Given the description of an element on the screen output the (x, y) to click on. 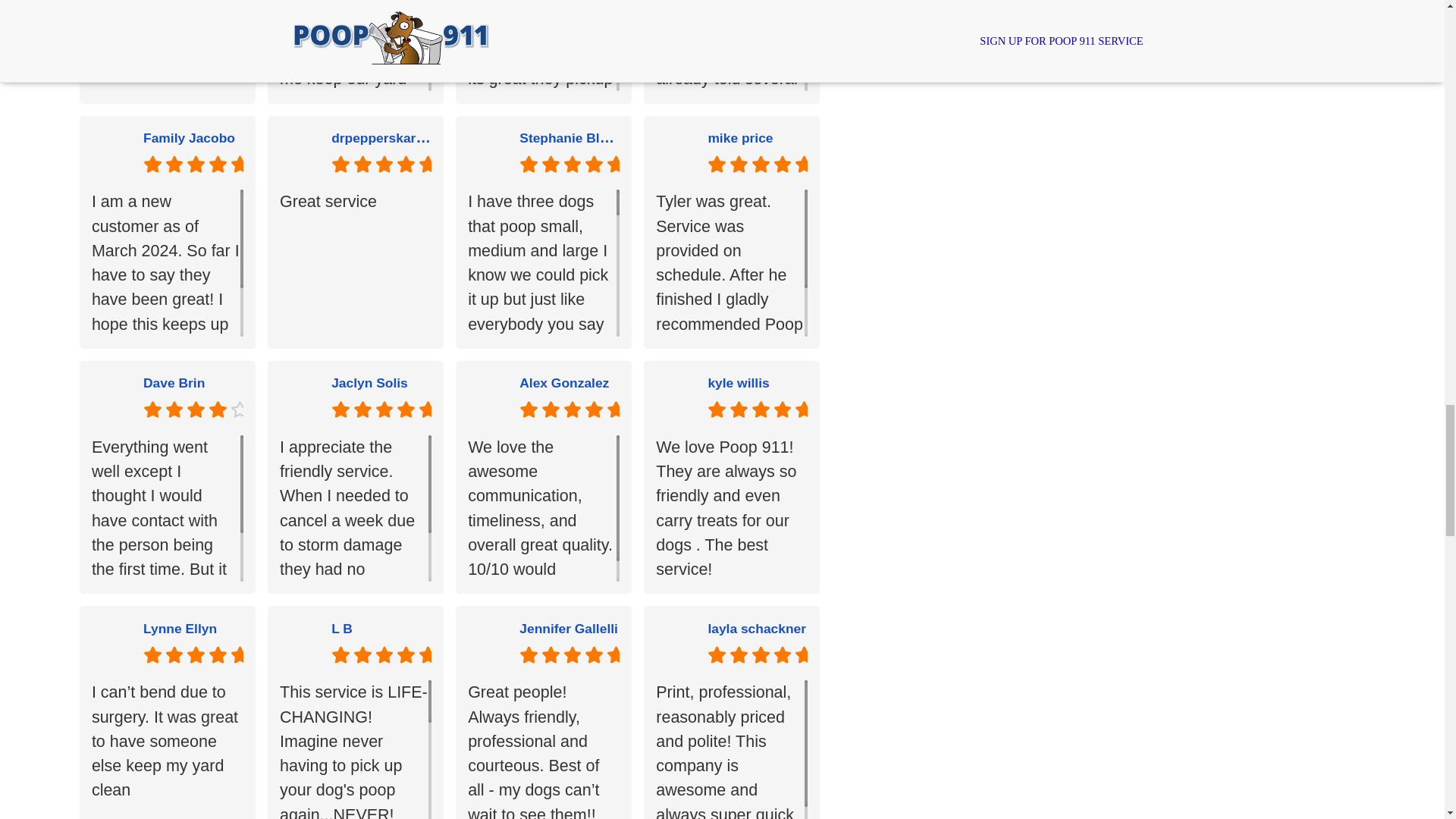
kyle willis (737, 382)
Jaclyn Solis (369, 382)
Best Poop disposal company ever! (167, 45)
Alex Gonzalez (563, 382)
Lynne Ellyn (179, 628)
Dave Brin (173, 382)
Jennifer Gallelli (568, 628)
Stephanie Black (570, 136)
Great service (354, 262)
drpepperskaraokeband (404, 136)
